Given the description of an element on the screen output the (x, y) to click on. 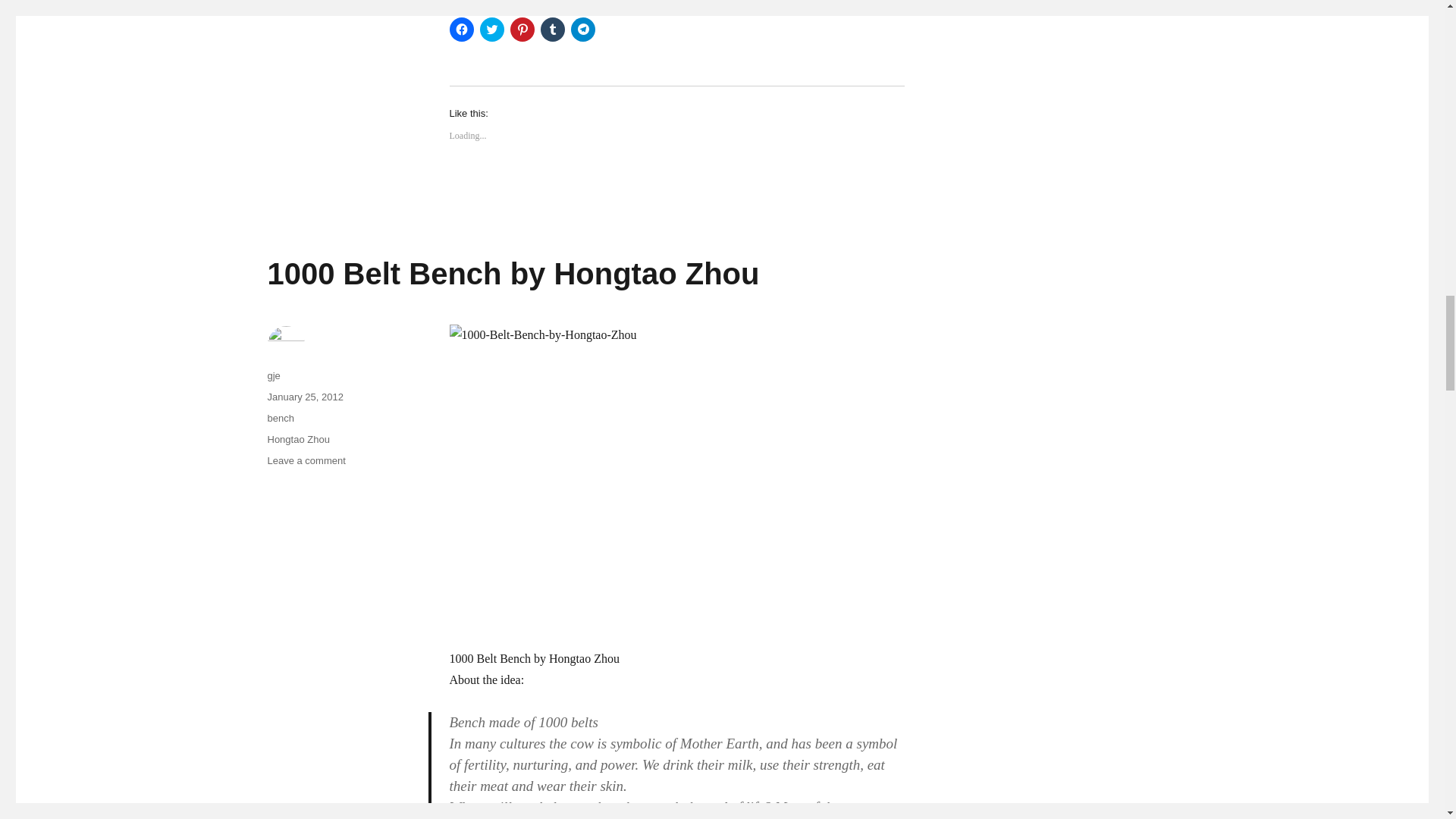
Click to share on Twitter (491, 29)
Click to share on Tumblr (552, 29)
January 25, 2012 (304, 396)
Click to share on Telegram (582, 29)
Click to share on Pinterest (521, 29)
gje (272, 375)
bench (280, 418)
1000 Belt Bench by Hongtao Zhou (512, 273)
Click to share on Facebook (460, 29)
